Given the description of an element on the screen output the (x, y) to click on. 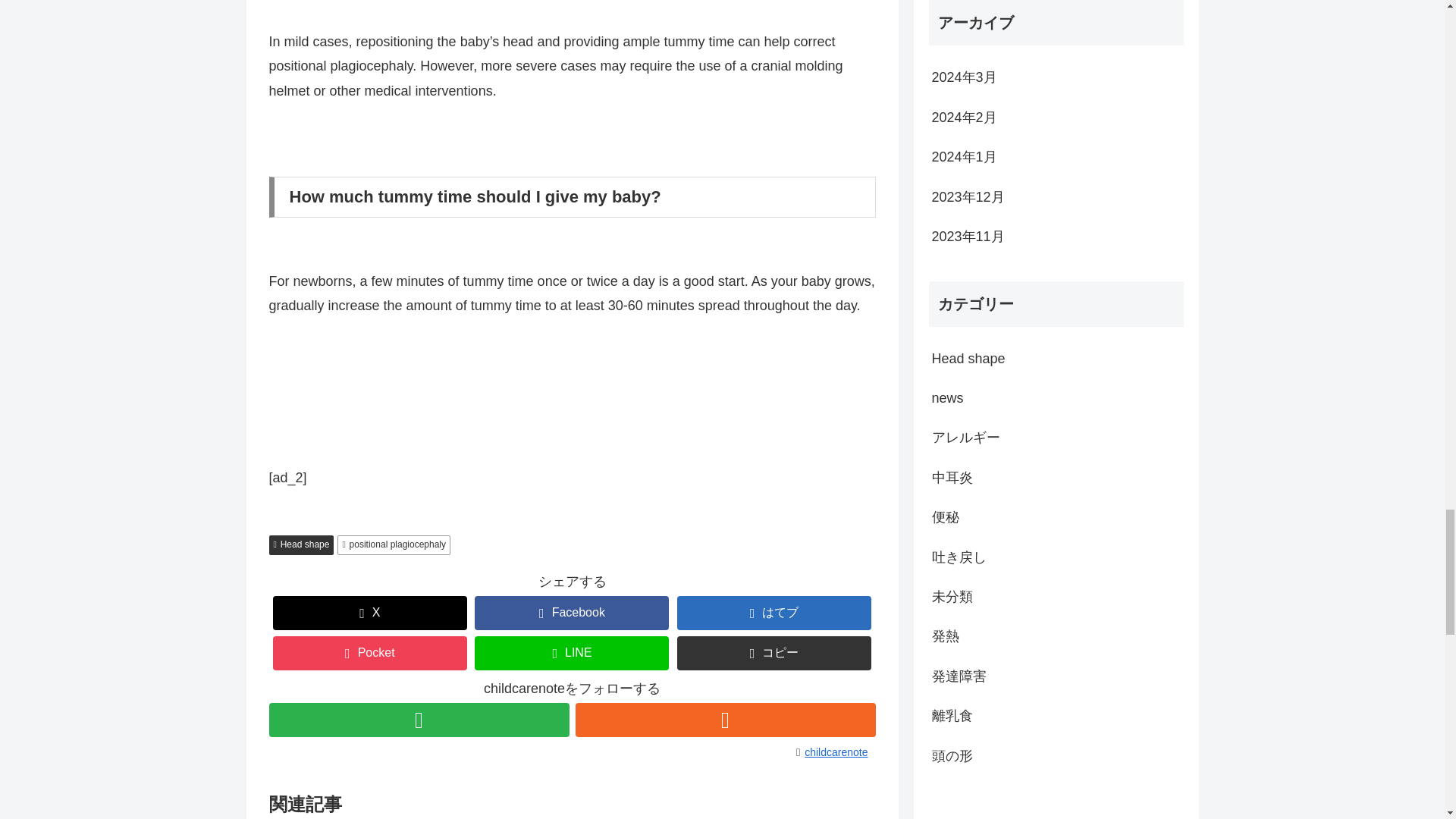
Facebook (571, 612)
positional plagiocephaly (393, 545)
LINE (571, 653)
Pocket (370, 653)
Head shape (300, 545)
X (370, 612)
